Given the description of an element on the screen output the (x, y) to click on. 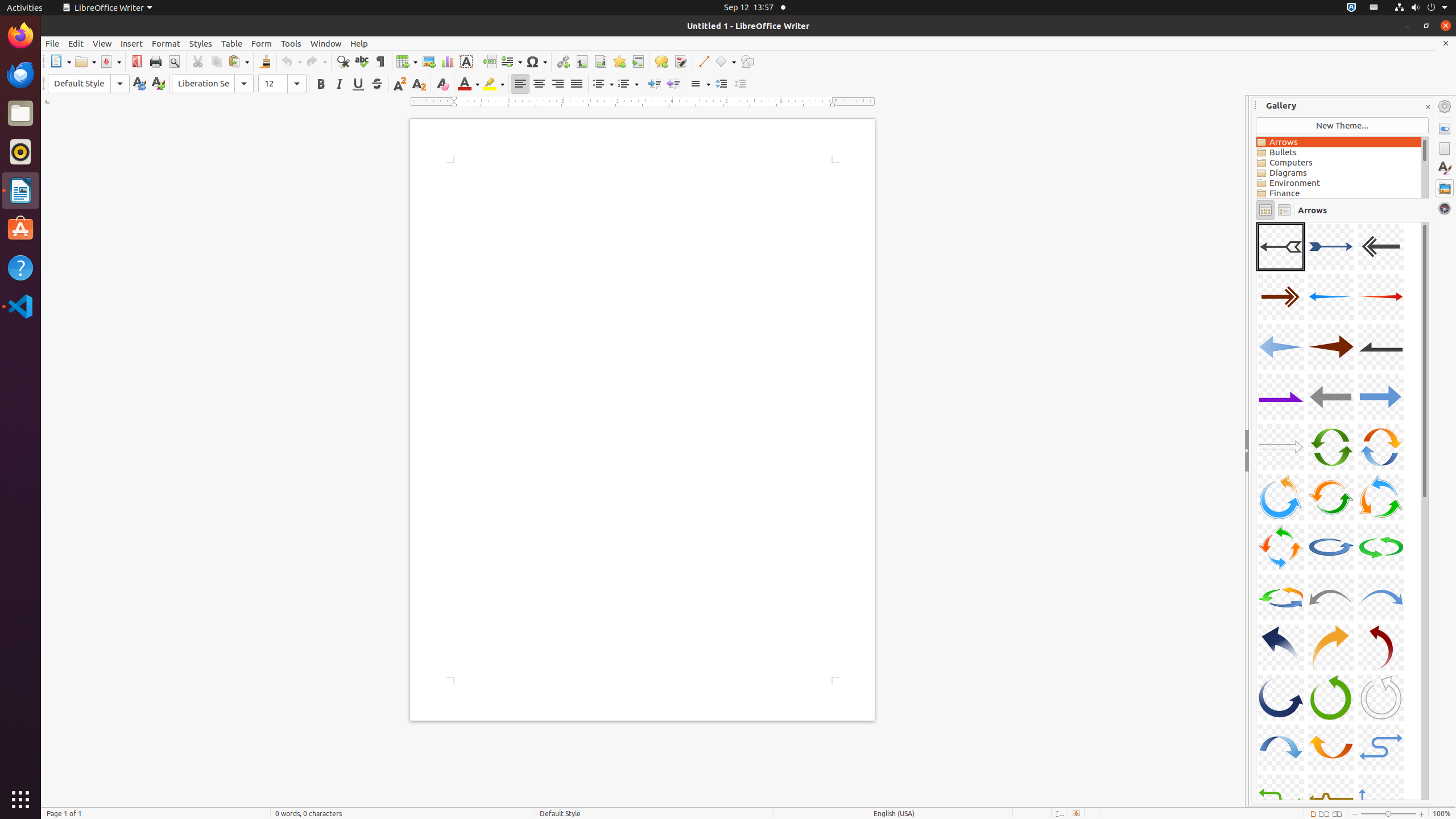
Font Size Element type: combo-box (282, 83)
Help Element type: menu (358, 43)
Detailed View Element type: toggle-button (1283, 210)
A18-CircleArrow Element type: list-item (1380, 496)
A08-Arrow-DarkRed-Right Element type: list-item (1330, 346)
